Given the description of an element on the screen output the (x, y) to click on. 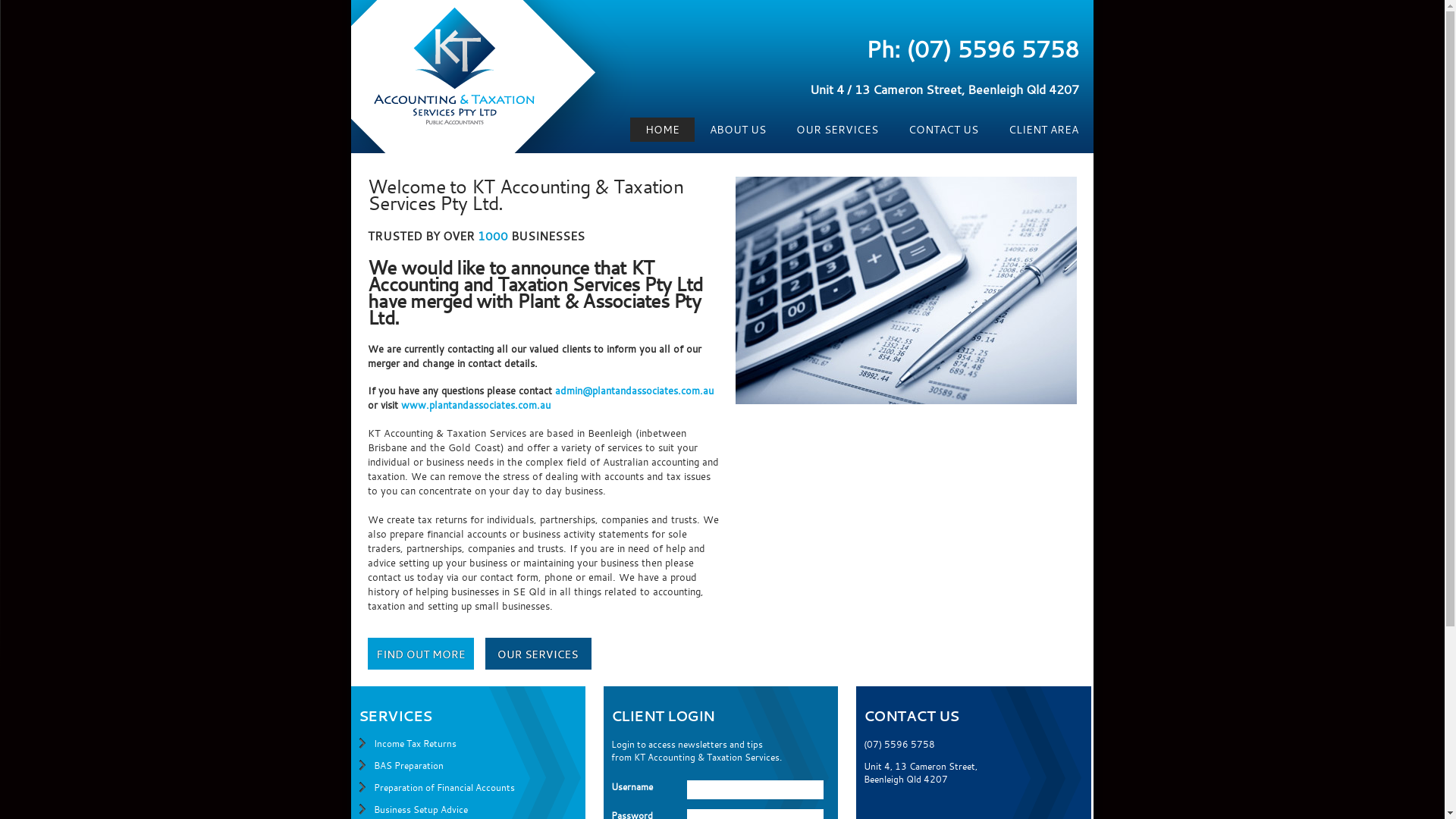
Income Tax Returns Element type: text (414, 743)
CONTACT US Element type: text (943, 129)
BAS Preparation Element type: text (408, 765)
Find out more Element type: hover (420, 653)
  Element type: text (538, 653)
OUR SERVICES Element type: text (837, 129)
Preparation of Financial Accounts Element type: text (443, 787)
  Element type: text (420, 653)
CLIENT AREA Element type: text (1043, 129)
Business Setup Advice Element type: text (420, 809)
www.plantandassociates.com.au Element type: text (475, 404)
ABOUT US Element type: text (737, 129)
admin@plantandassociates.com.au Element type: text (634, 390)
HOME Element type: text (662, 129)
Our Services Element type: hover (538, 653)
